Given the description of an element on the screen output the (x, y) to click on. 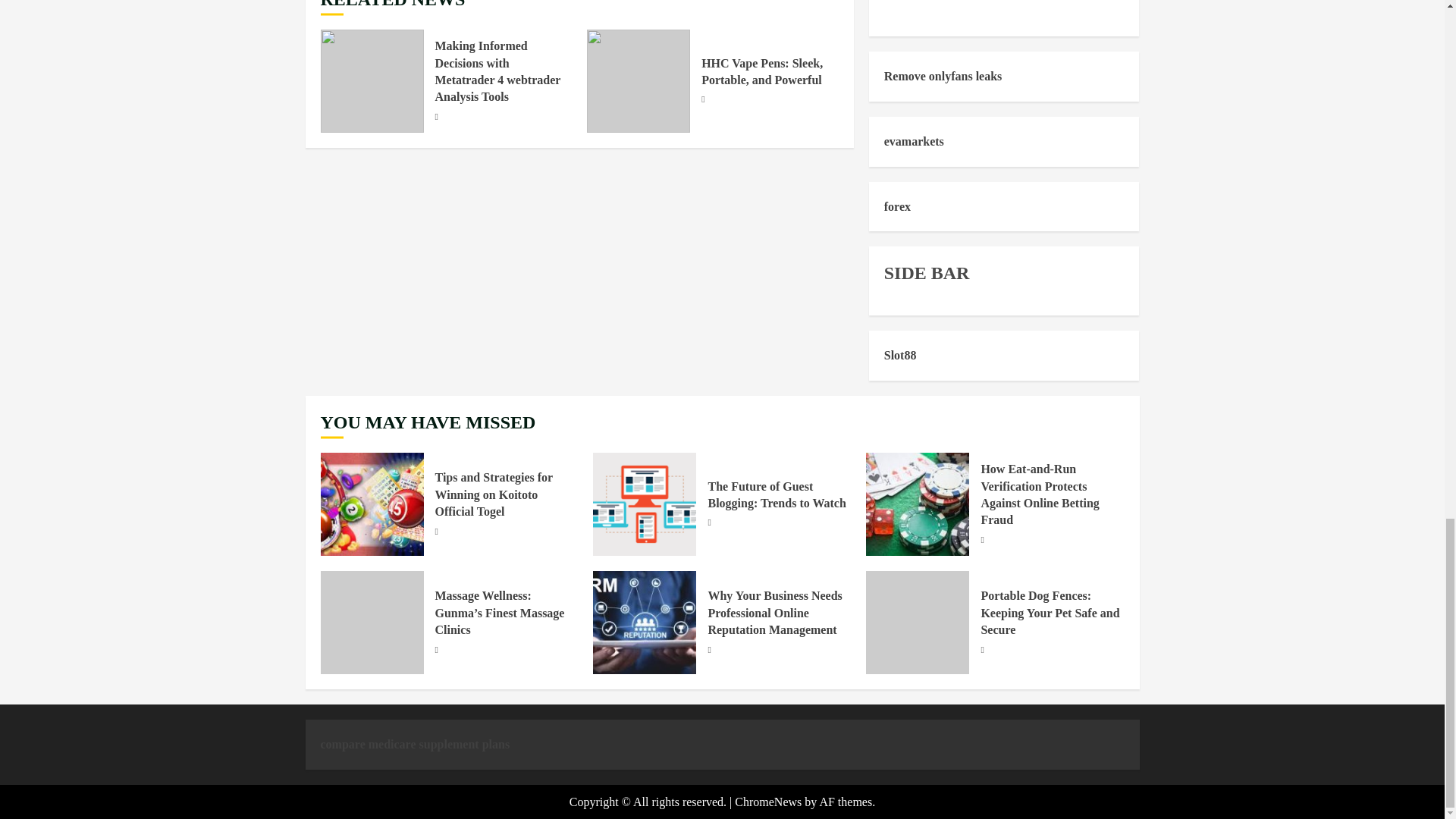
HHC Vape Pens: Sleek, Portable, and Powerful (761, 71)
HHC Vape Pens: Sleek, Portable, and Powerful (638, 80)
